Given the description of an element on the screen output the (x, y) to click on. 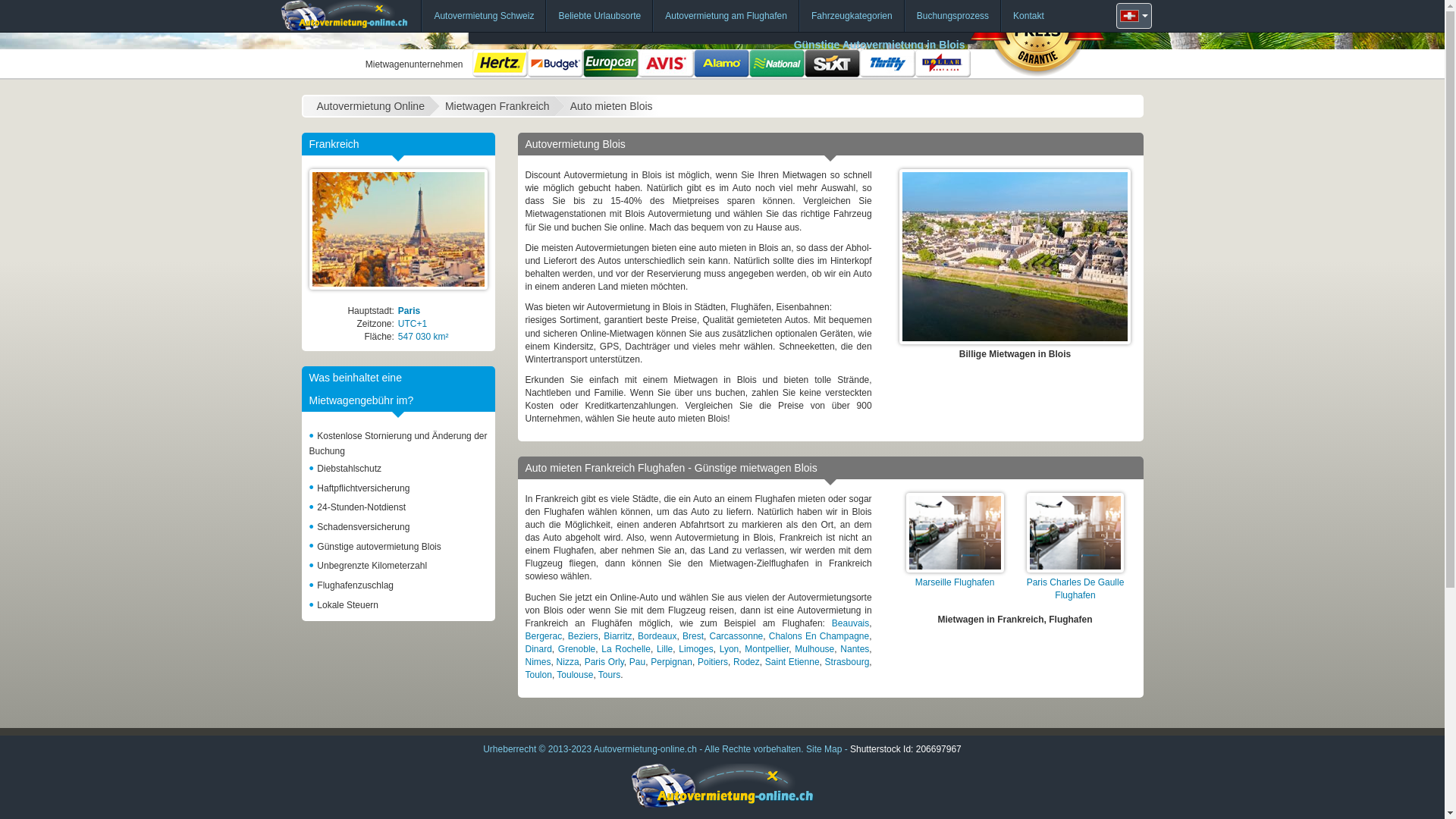
Auto mieten Blois Element type: text (611, 106)
Buchungsprozess Element type: text (952, 15)
Site Map Element type: text (825, 748)
Beliebte Urlaubsorte Element type: text (599, 15)
Mulhouse Element type: text (814, 648)
Pau Element type: text (637, 661)
Perpignan Element type: text (671, 661)
La Rochelle Element type: text (625, 648)
Chalons En Champagne Element type: text (818, 635)
Autovermietung am Marseille Flughafen Element type: hover (955, 532)
Autovermietung Schweiz Element type: text (483, 15)
Lyon Element type: text (729, 648)
Toulon Element type: text (537, 674)
Marseille Flughafen Element type: text (954, 582)
Strasbourg Element type: text (847, 661)
Paris Charles De Gaulle Flughafen Element type: text (1075, 588)
Nantes Element type: text (854, 648)
Nimes Element type: text (537, 661)
Saint Etienne Element type: text (792, 661)
Autovermietung am Flughafen Element type: text (725, 15)
Lille Element type: text (664, 648)
Poitiers Element type: text (712, 661)
Biarritz Element type: text (617, 635)
Brest Element type: text (692, 635)
Paris Element type: text (409, 310)
Autovermietung am Paris Charles De Gaulle Flughafen Element type: hover (1075, 532)
Tours Element type: text (609, 674)
Autovermietung Online Element type: text (369, 106)
Beauvais Element type: text (850, 623)
Beziers Element type: text (582, 635)
Dinard Element type: text (537, 648)
Limoges Element type: text (695, 648)
Rodez Element type: text (746, 661)
Nizza Element type: text (567, 661)
Autovermietung Blois, Frankreich Element type: hover (1014, 256)
Mietwagen Frankreich Element type: text (497, 106)
Carcassonne Element type: text (736, 635)
Fahrzeugkategorien Element type: text (851, 15)
Mietwagen Frankreich Element type: hover (398, 229)
Kontakt Element type: text (1028, 15)
Bordeaux Element type: text (656, 635)
Montpellier Element type: text (766, 648)
Bergerac Element type: text (542, 635)
Grenoble Element type: text (576, 648)
Toulouse Element type: text (574, 674)
Paris Orly Element type: text (604, 661)
